Given the description of an element on the screen output the (x, y) to click on. 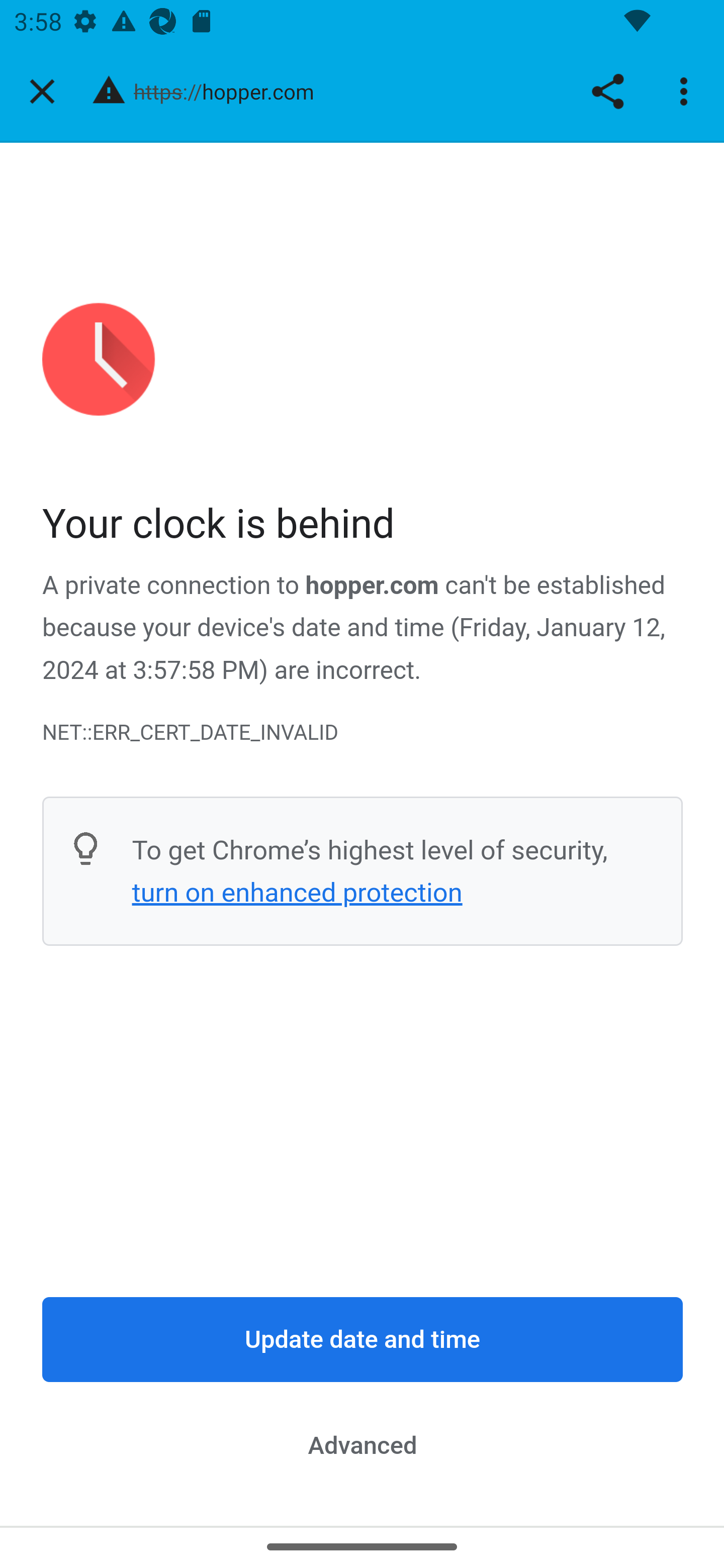
Close tab (42, 91)
Share (607, 91)
More options (687, 91)
This page is dangerous (108, 91)
https://hopper.com (230, 90)
NET::ERR_CERT_DATE_INVALID (362, 732)
turn on enhanced protection (296, 892)
Update date and time (362, 1339)
Advanced (362, 1445)
